Given the description of an element on the screen output the (x, y) to click on. 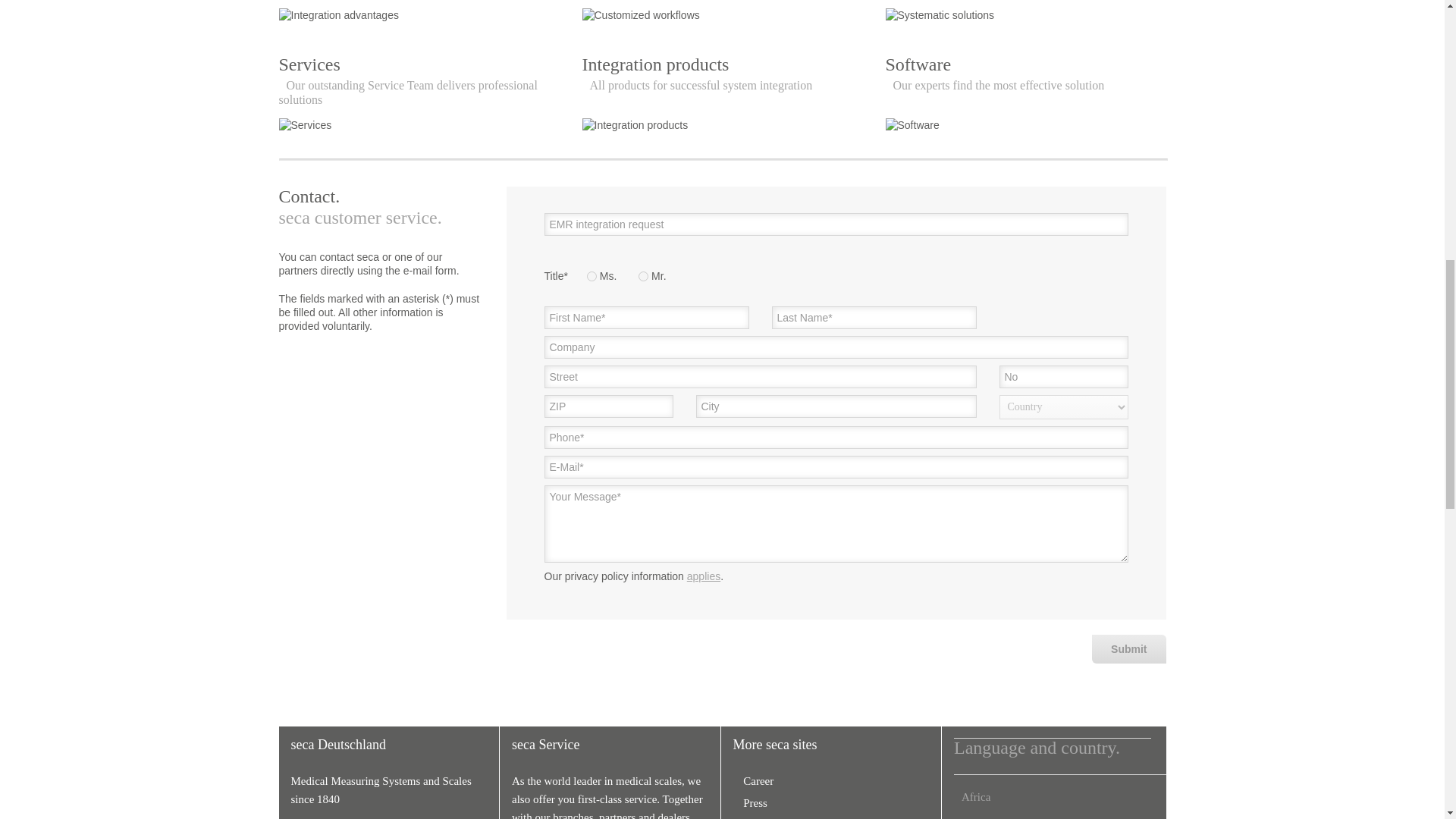
Mr. (643, 276)
Press (1025, 94)
first-class service (751, 802)
Submit (618, 799)
Press (1129, 648)
Career (751, 802)
applies (754, 780)
Submit (703, 576)
Ms. (1129, 648)
